Given the description of an element on the screen output the (x, y) to click on. 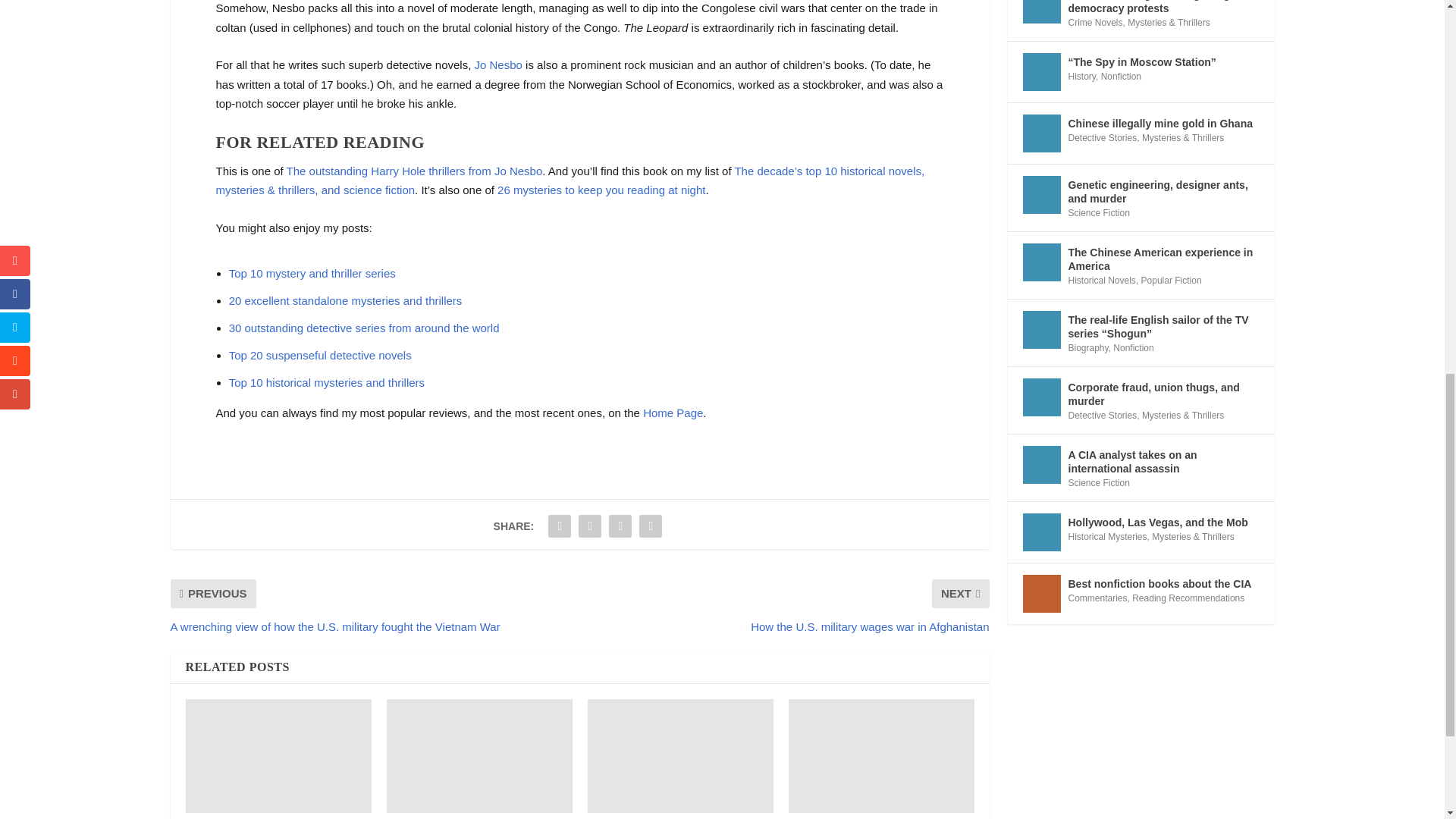
The first in a series of great detective novels (479, 756)
A thriller about Vatican politics (881, 756)
The ghost of Francisco Franco haunts Spain today (277, 756)
